Given the description of an element on the screen output the (x, y) to click on. 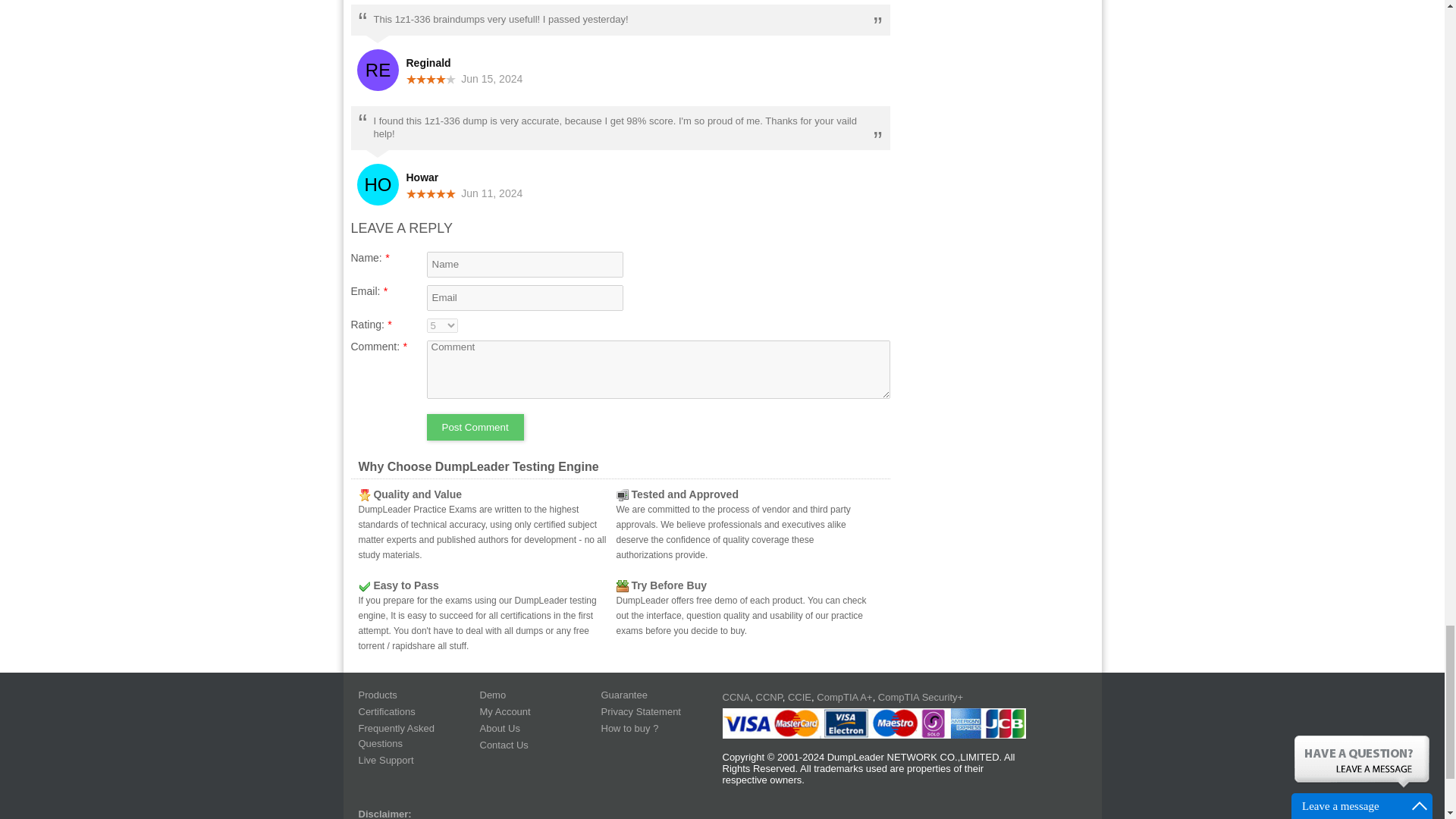
Post Comment (474, 427)
